Given the description of an element on the screen output the (x, y) to click on. 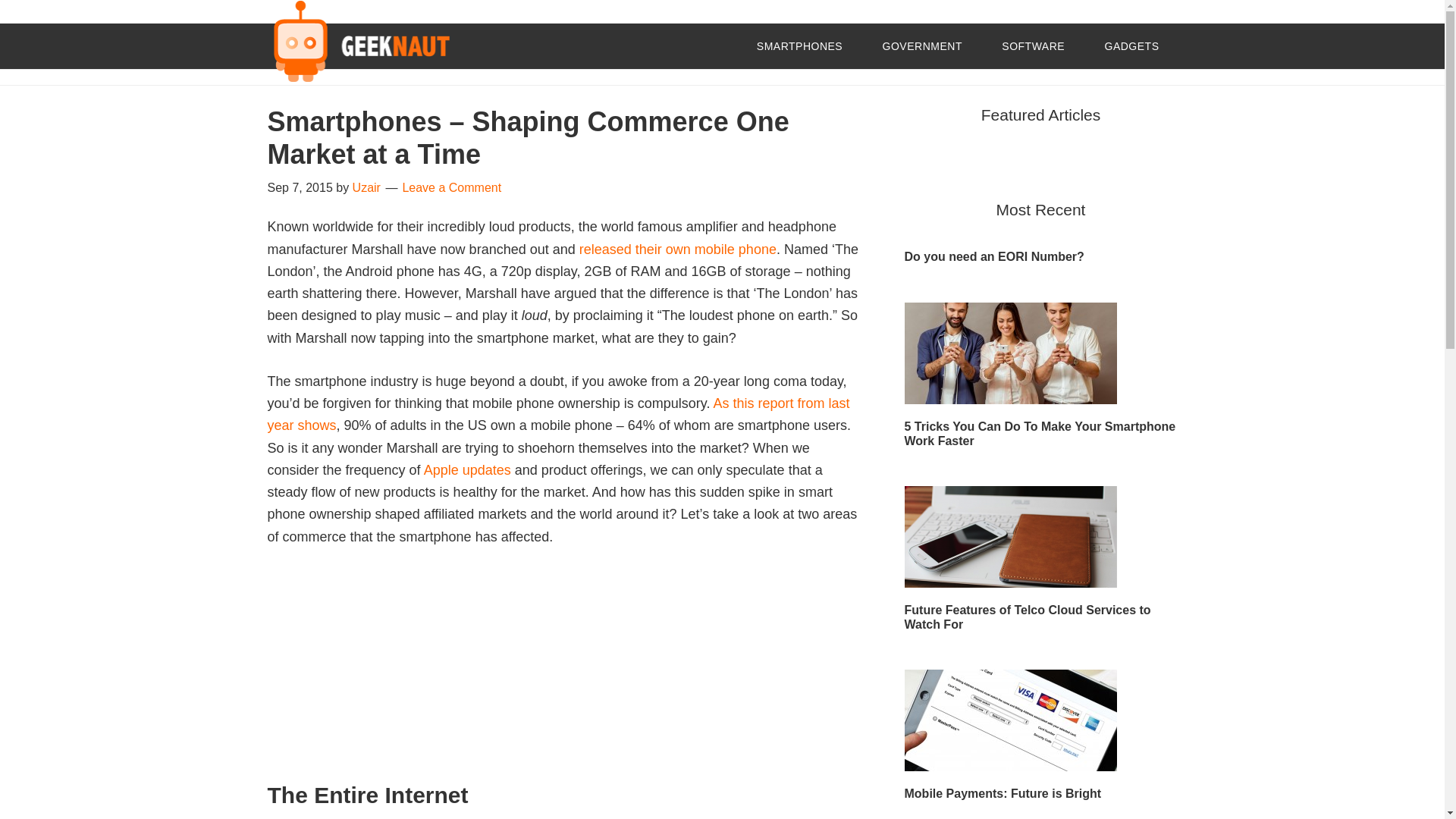
As this report from last year shows (557, 414)
Mobile Payments: Future is Bright (1002, 793)
Do you need an EORI Number? (993, 256)
Advertisement (562, 675)
GADGETS (1131, 45)
Uzair (366, 187)
GOVERNMENT (921, 45)
released their own mobile phone (677, 249)
5 Tricks You Can Do To Make Your Smartphone Work Faster (1039, 433)
Leave a Comment (450, 187)
SOFTWARE (1033, 45)
SMARTPHONES (799, 45)
Geeknaut (357, 43)
Apple updates (467, 469)
Future Features of Telco Cloud Services to Watch For (1027, 616)
